Given the description of an element on the screen output the (x, y) to click on. 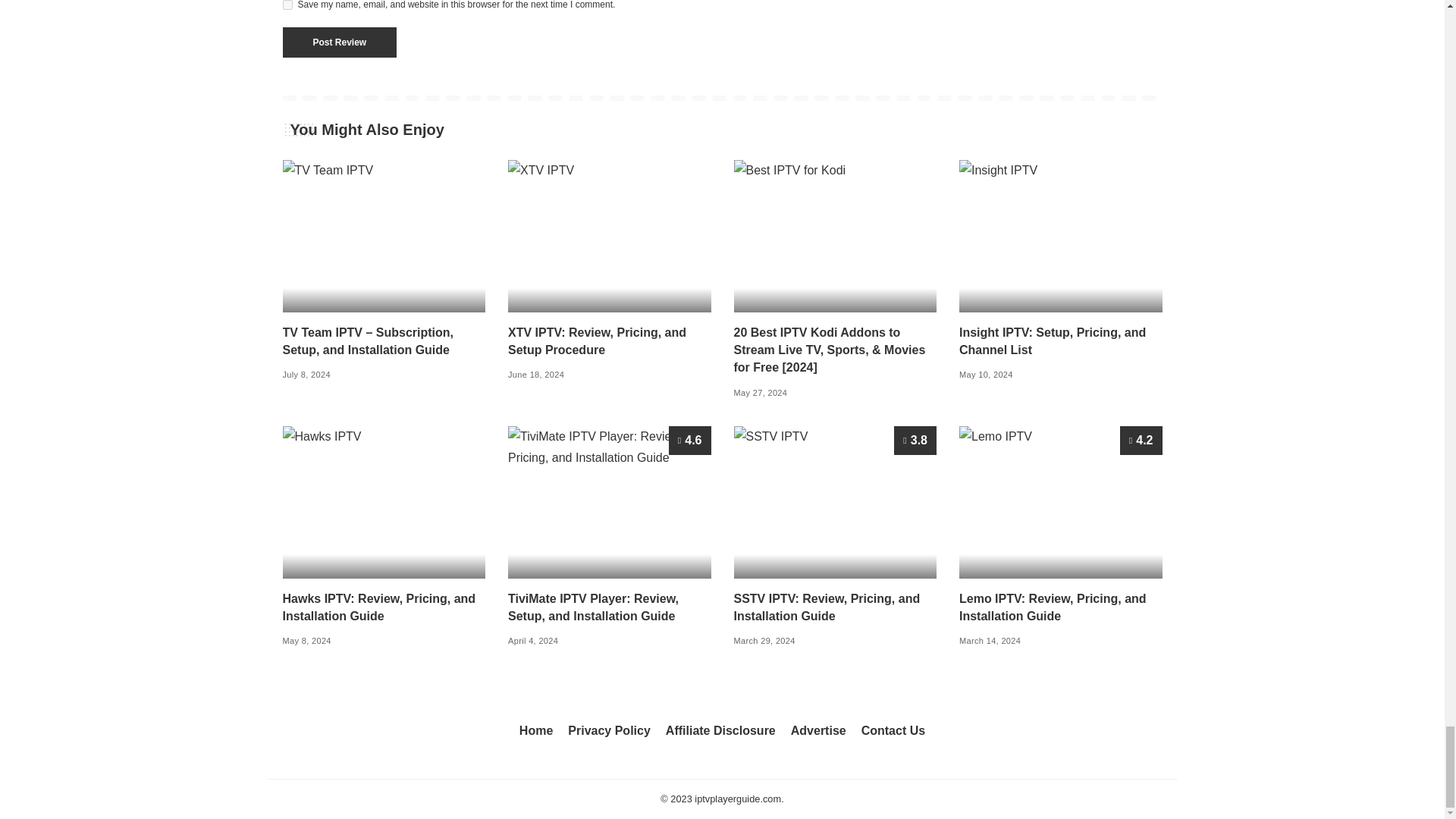
yes (287, 4)
Post Review (339, 42)
